Given the description of an element on the screen output the (x, y) to click on. 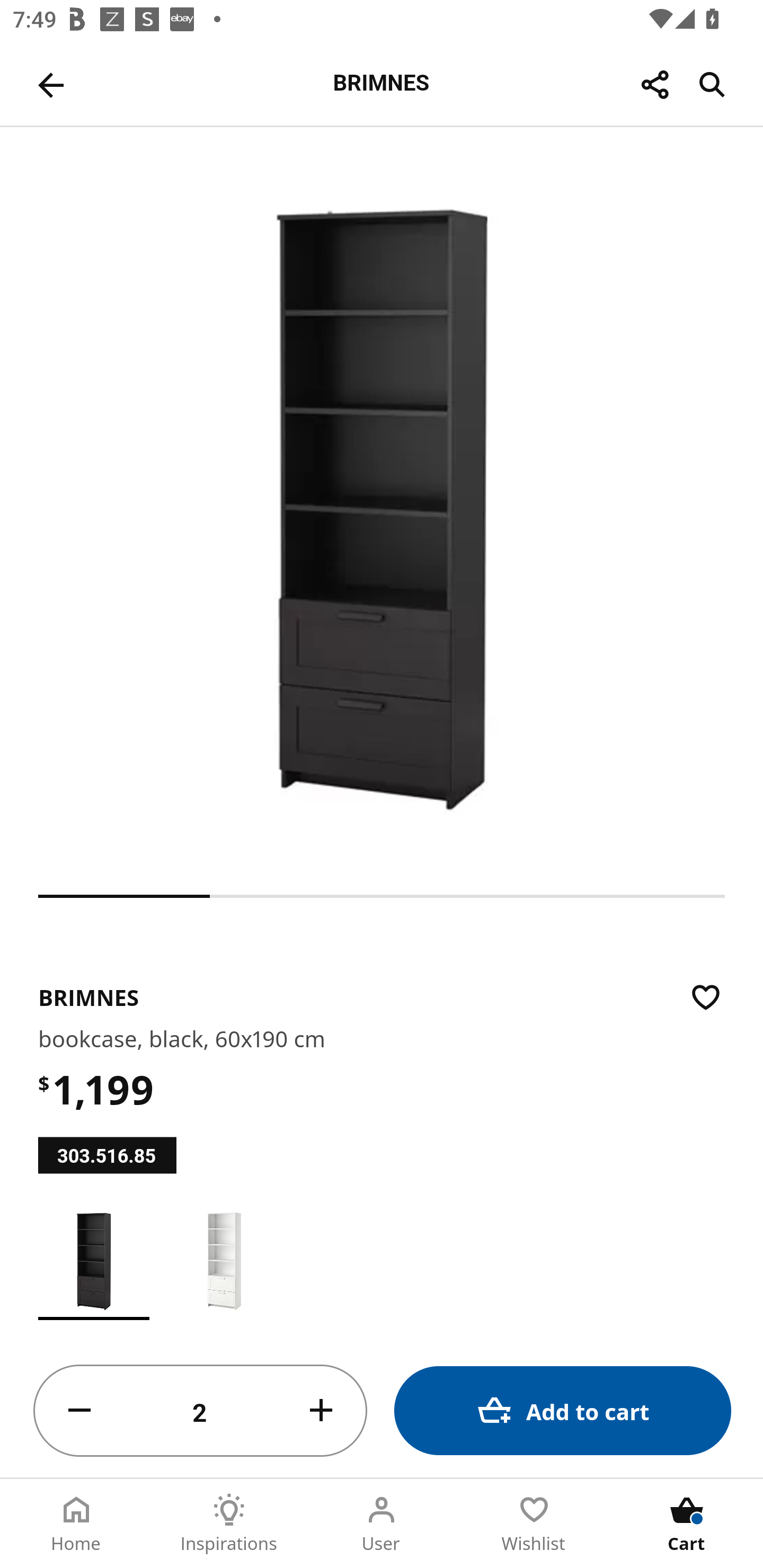
Add to cart (562, 1410)
2 (200, 1411)
Home
Tab 1 of 5 (76, 1522)
Inspirations
Tab 2 of 5 (228, 1522)
User
Tab 3 of 5 (381, 1522)
Wishlist
Tab 4 of 5 (533, 1522)
Cart
Tab 5 of 5 (686, 1522)
